Given the description of an element on the screen output the (x, y) to click on. 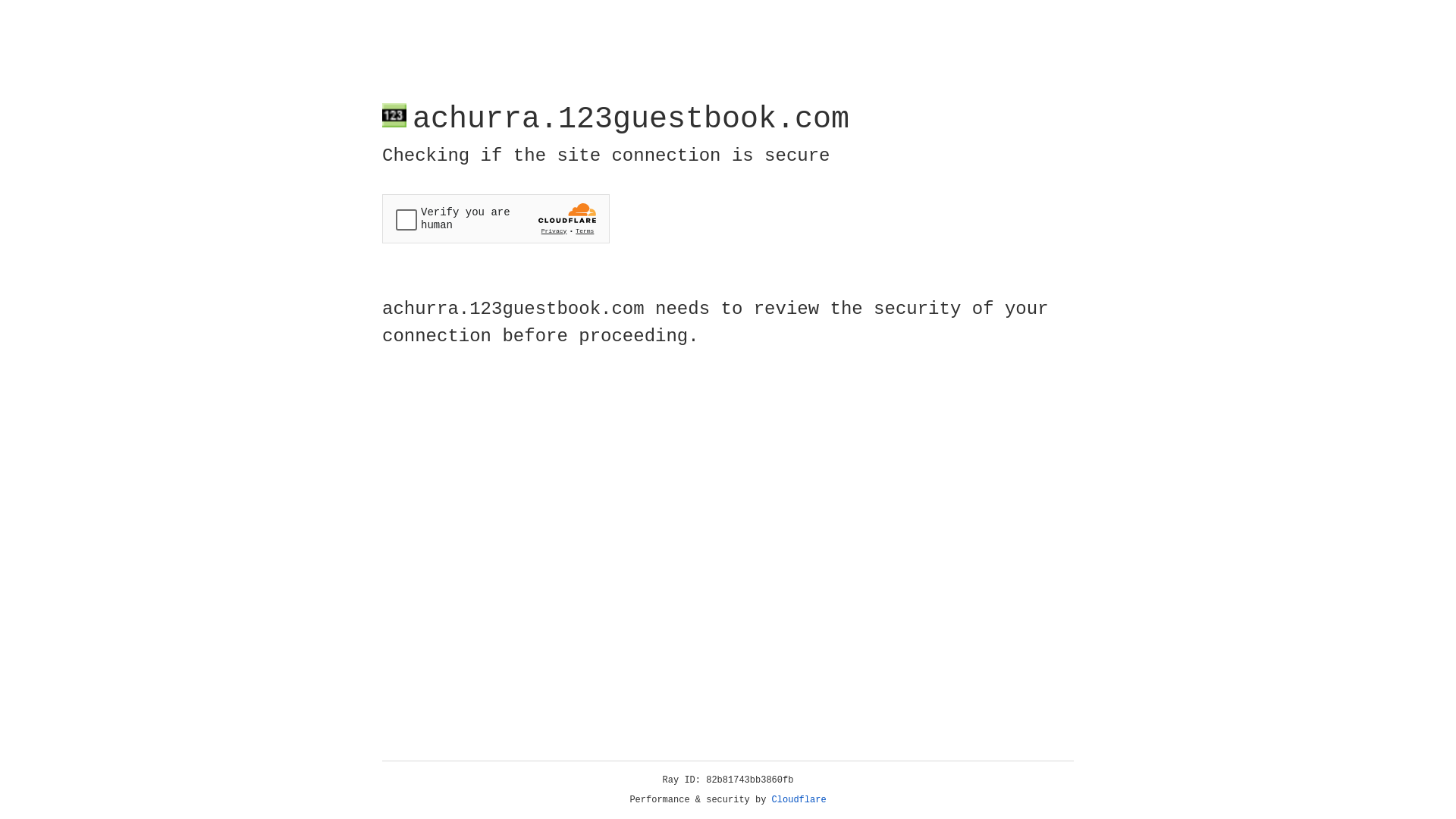
Widget containing a Cloudflare security challenge Element type: hover (495, 218)
Cloudflare Element type: text (798, 799)
